Given the description of an element on the screen output the (x, y) to click on. 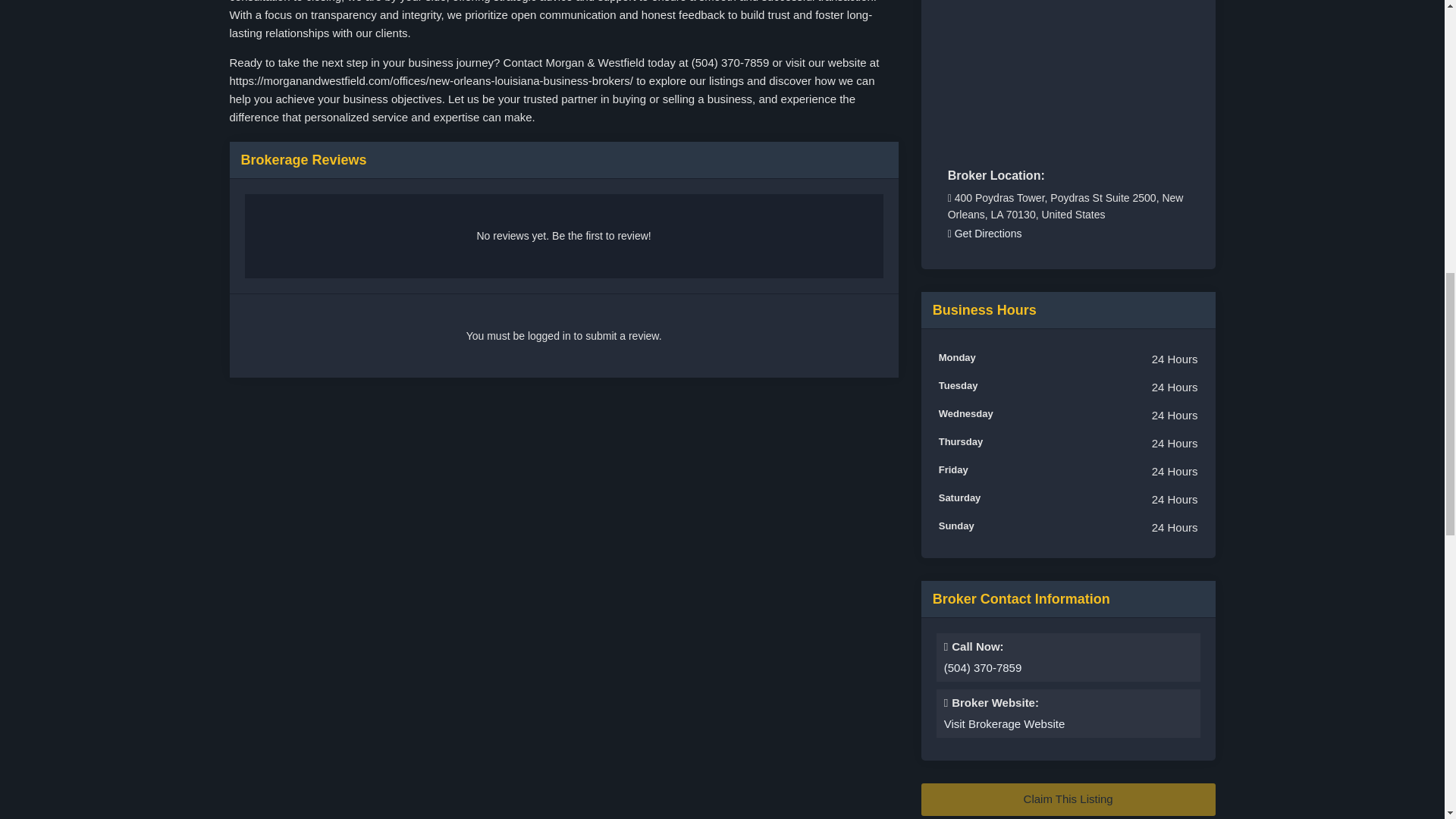
Claim This Listing (1068, 798)
Visit Brokerage Website (1004, 724)
Get Directions (984, 233)
